Given the description of an element on the screen output the (x, y) to click on. 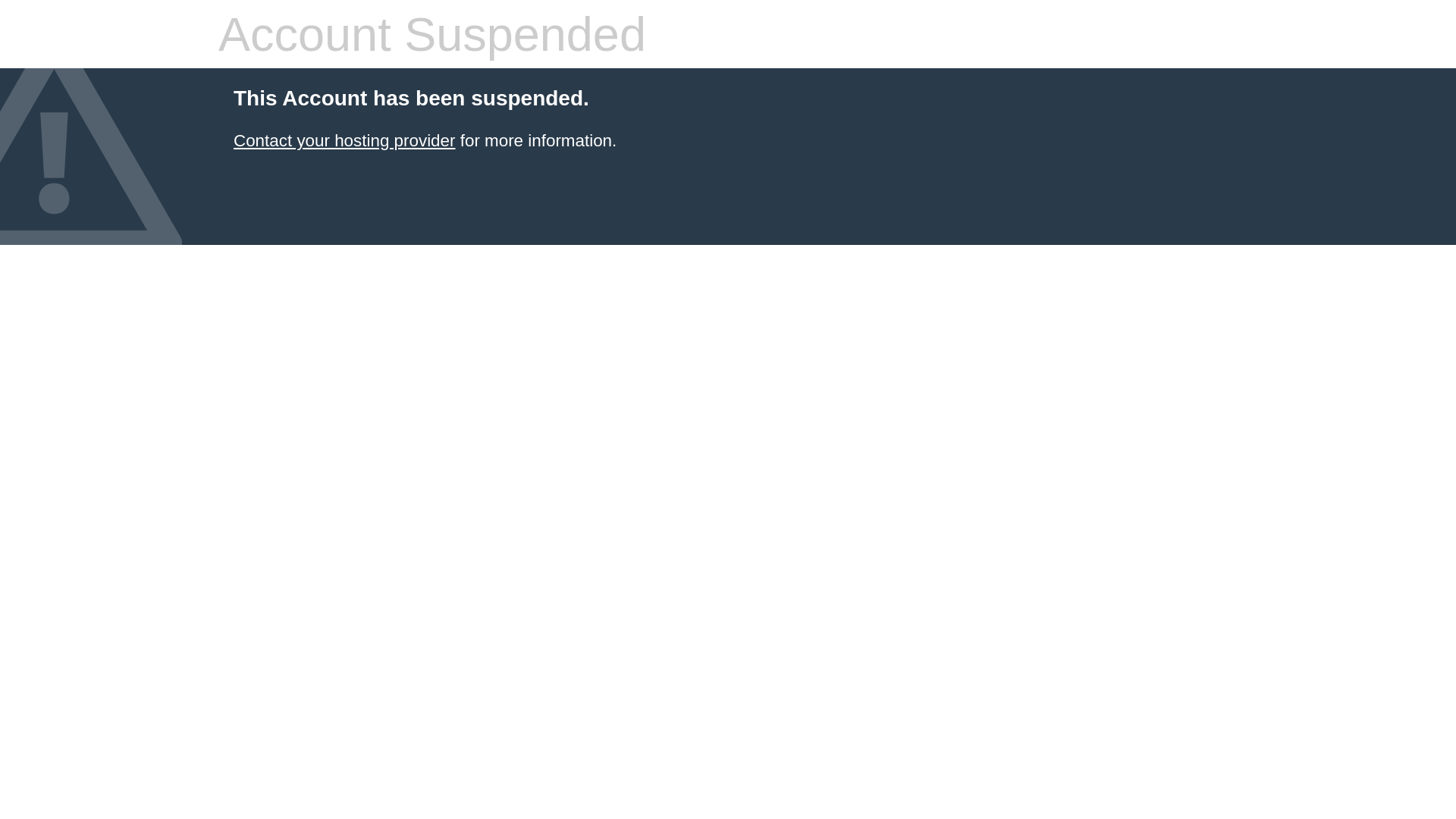
Contact your hosting provider Element type: text (344, 140)
